Given the description of an element on the screen output the (x, y) to click on. 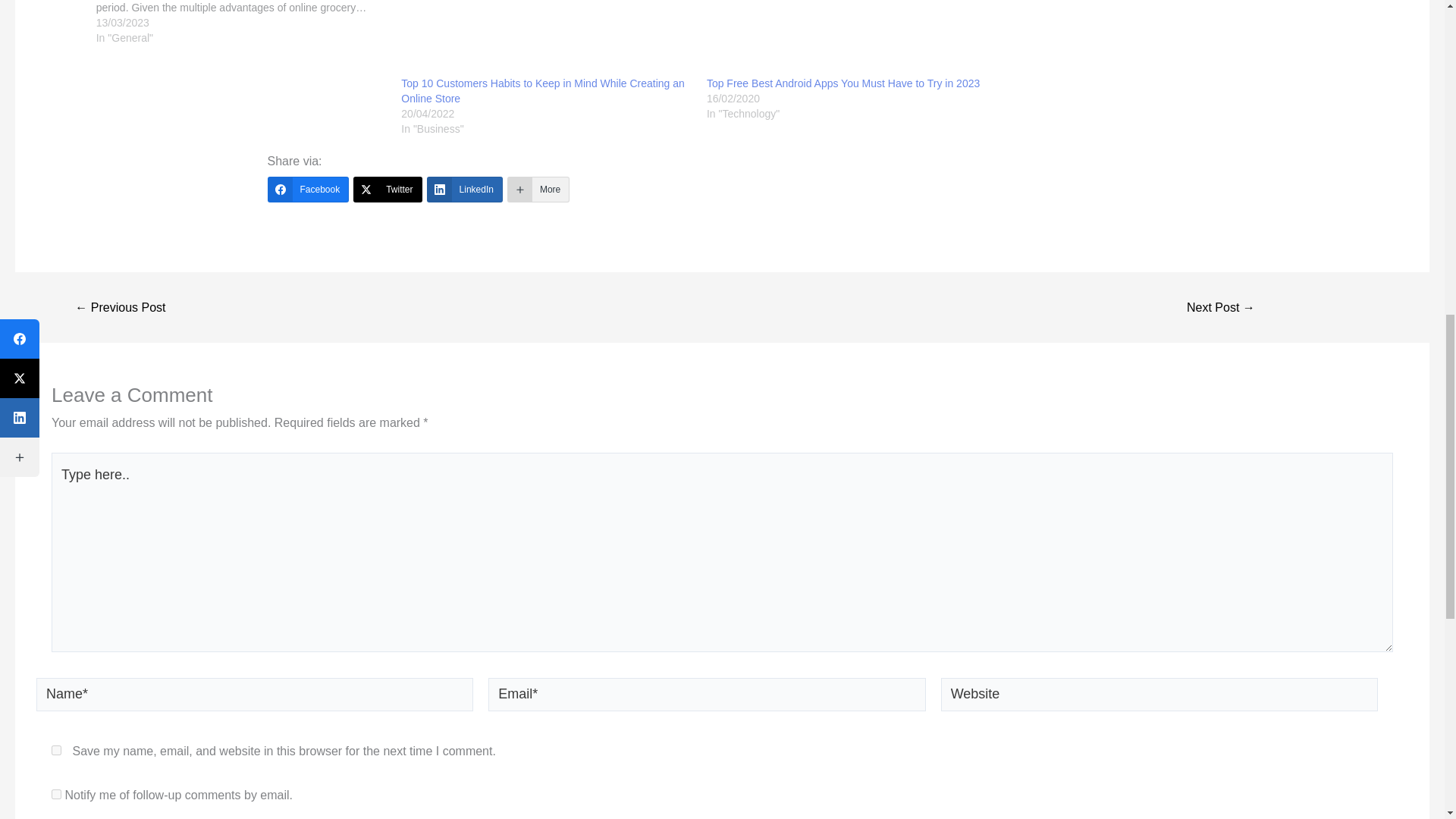
Twitter (387, 189)
Top Free Best Android Apps You Must Have to Try in 2023 (842, 82)
Top Free Best Android Apps You Must Have to Try in 2023 (851, 38)
Facebook (307, 189)
Top Free Best Android Apps You Must Have to Try in 2023 (842, 82)
subscribe (55, 794)
